Given the description of an element on the screen output the (x, y) to click on. 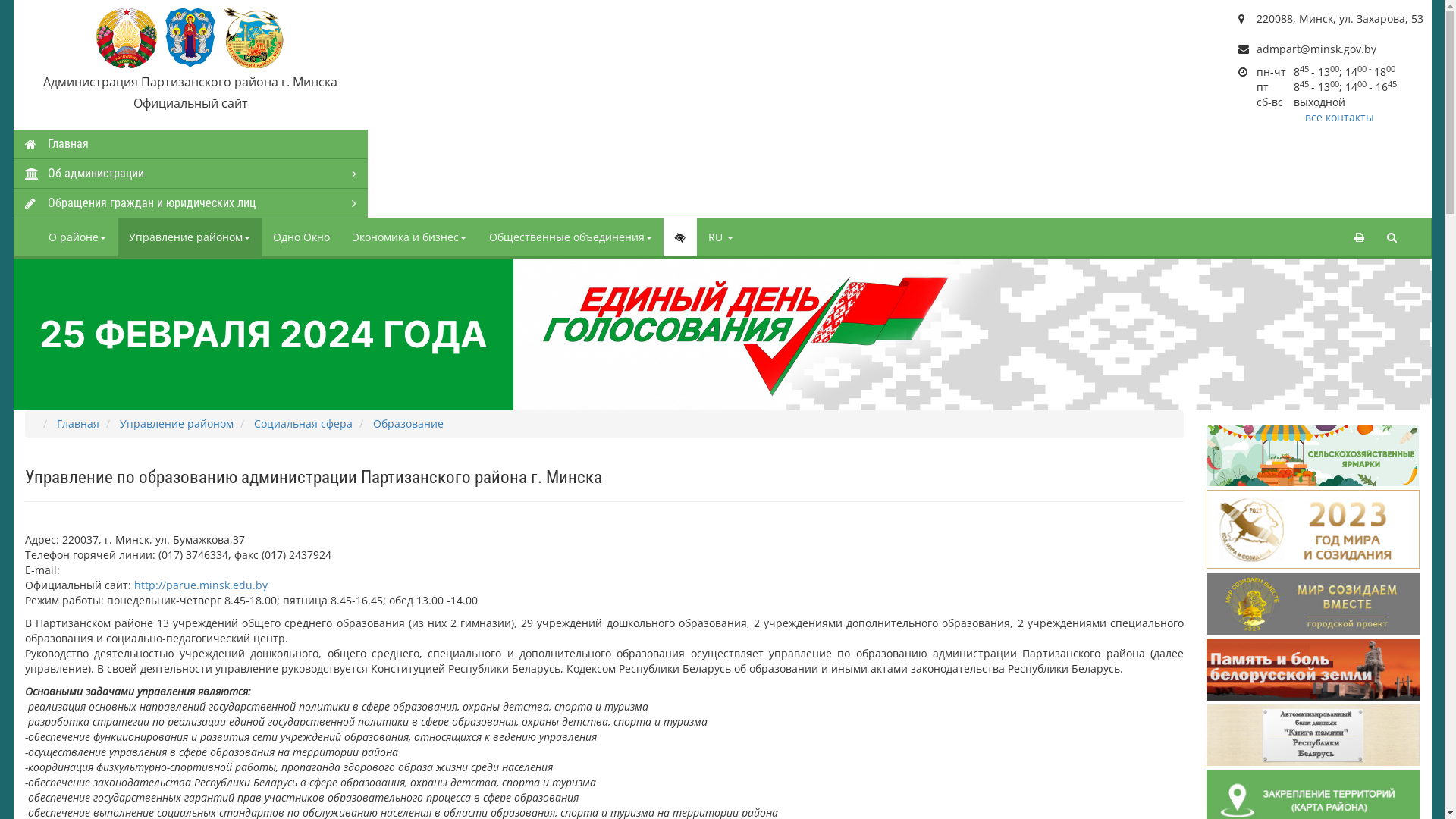
http://parue.minsk.edu.by Element type: text (199, 584)
RU Element type: text (719, 237)
